Given the description of an element on the screen output the (x, y) to click on. 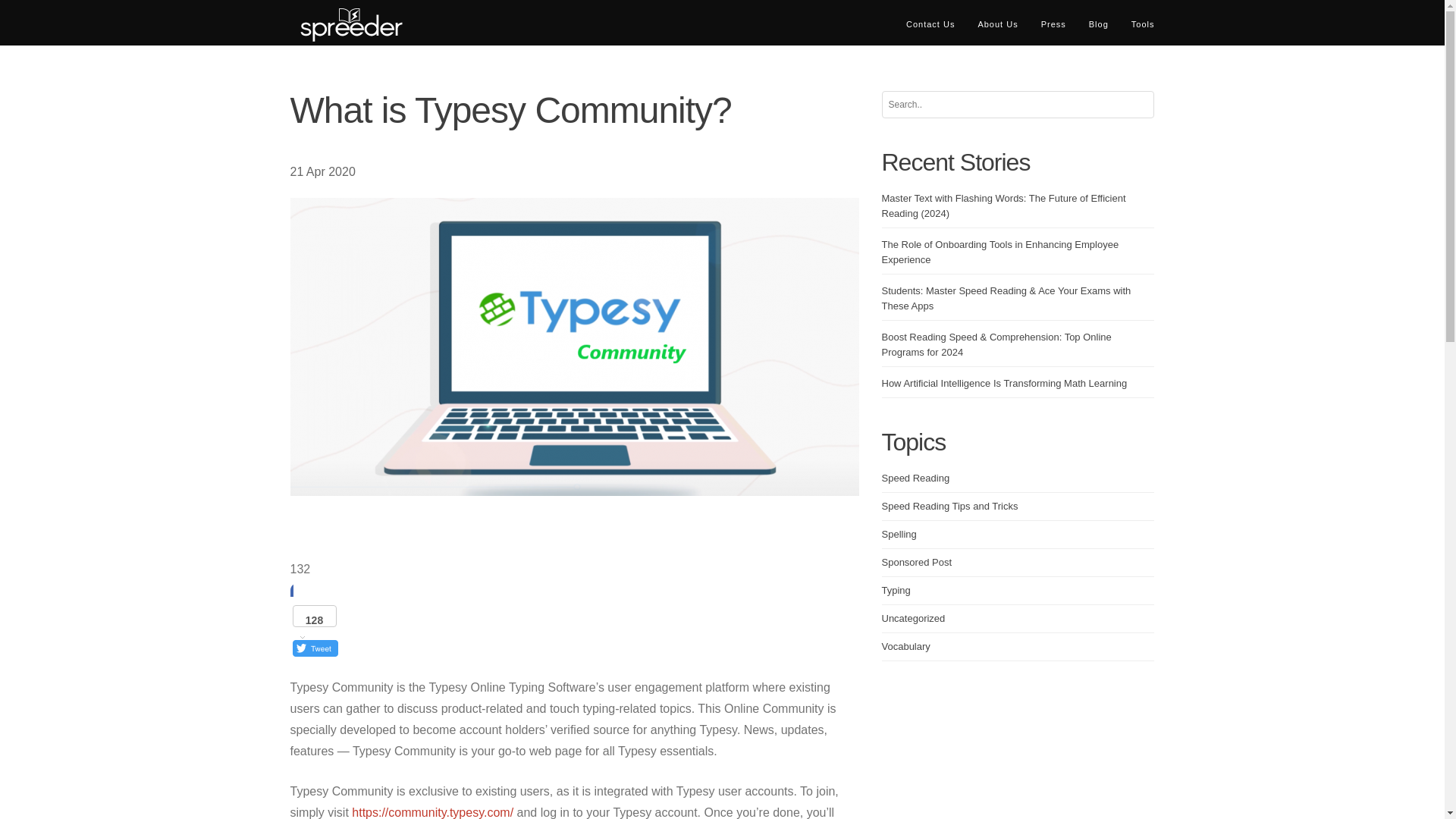
Typing (895, 590)
About Us (997, 24)
Press (1053, 24)
Sponsored Post (916, 562)
Tools (1142, 24)
Speed Reading Tips and Tricks (948, 505)
Go (147, 13)
Vocabulary (905, 645)
Blog (1098, 24)
Speed Reading (914, 478)
Spelling (897, 533)
How Artificial Intelligence Is Transforming Math Learning (1003, 383)
Uncategorized (912, 618)
Contact Us (930, 24)
